Given the description of an element on the screen output the (x, y) to click on. 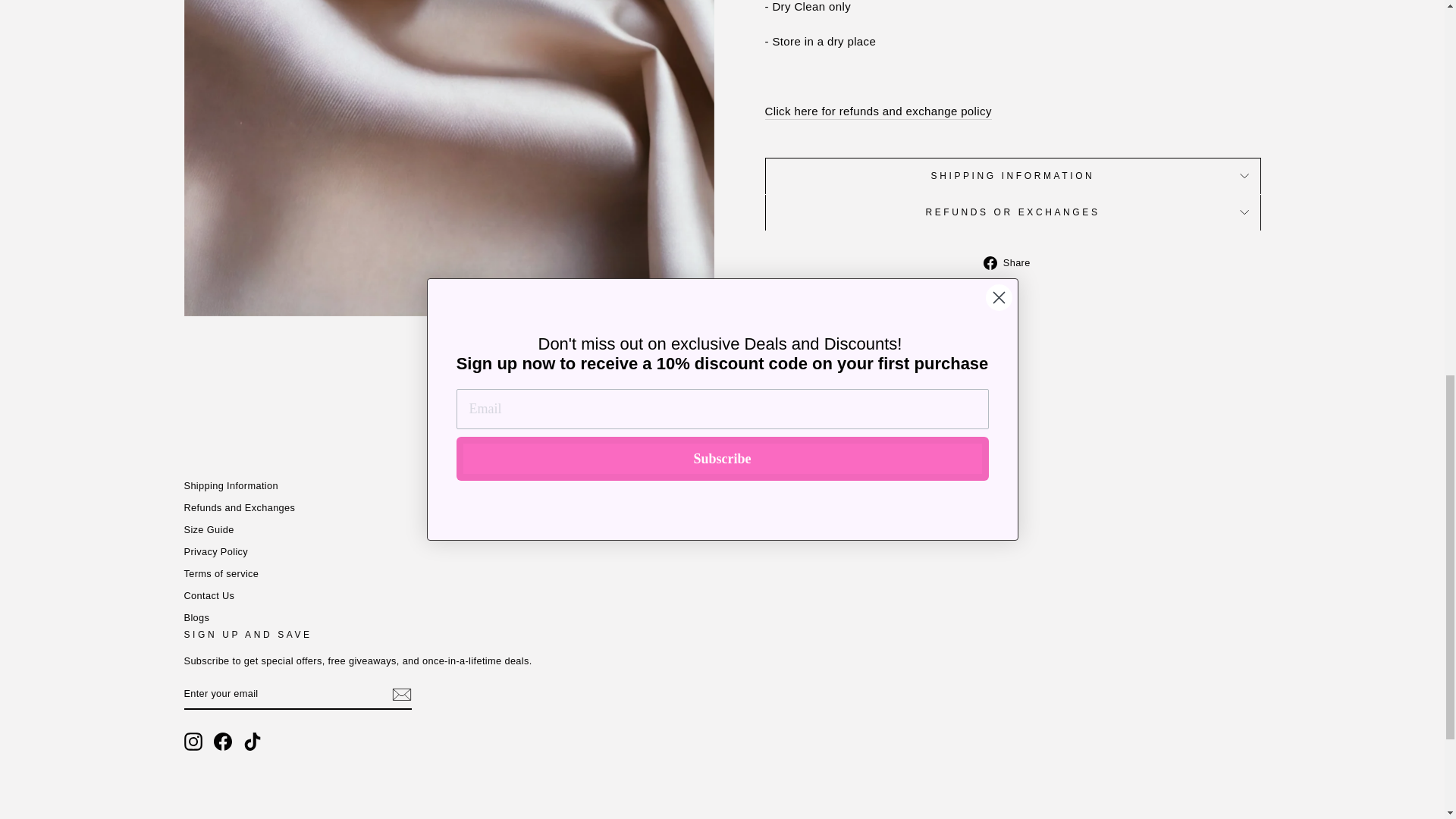
House of Estela on TikTok (251, 741)
instagram (192, 741)
House of Estela on Facebook (222, 741)
Share on Facebook (1012, 261)
icon-email (400, 694)
House of Estela on Instagram (192, 741)
